Given the description of an element on the screen output the (x, y) to click on. 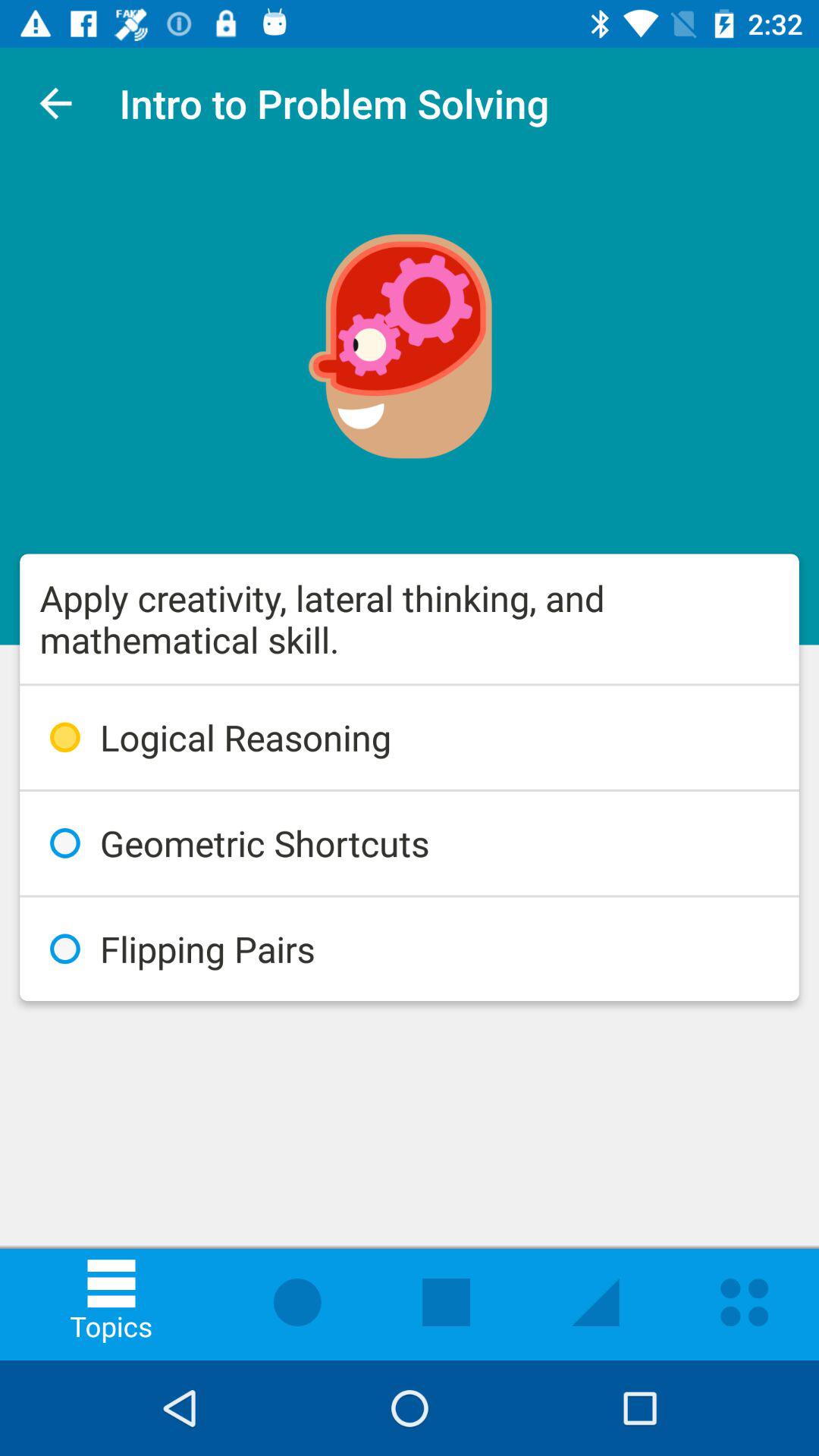
jump until the logical reasoning item (409, 737)
